Given the description of an element on the screen output the (x, y) to click on. 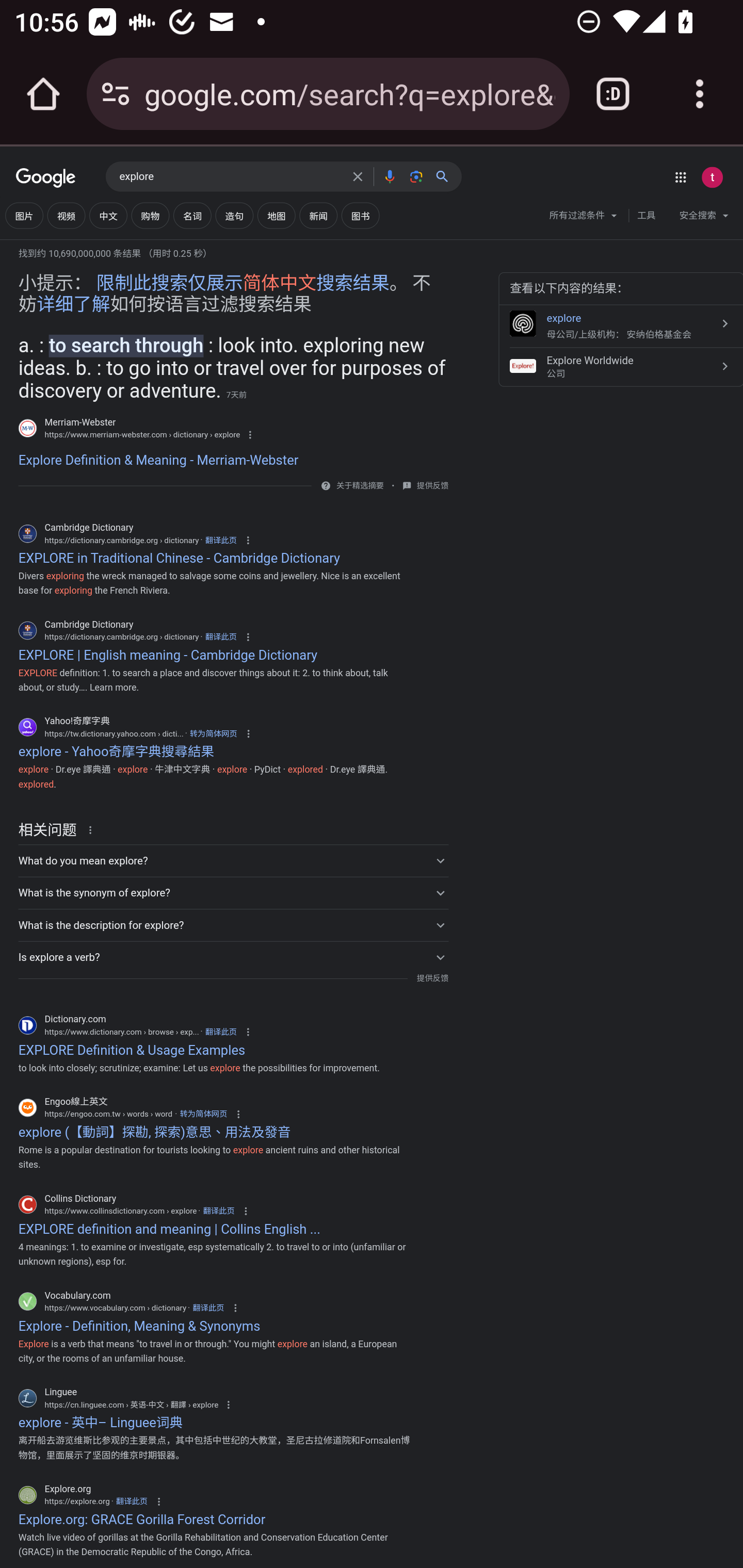
Open the home page (43, 93)
Connection is secure (115, 93)
Switch or close tabs (612, 93)
Customize and control Google Chrome (699, 93)
清除 (357, 176)
按语音搜索 (389, 176)
按图搜索 (415, 176)
搜索 (446, 176)
Google 应用 (680, 176)
Google 账号： test appium (testappium002@gmail.com) (712, 176)
Google (45, 178)
explore (229, 177)
图片 (24, 215)
视频 (65, 215)
添加“中文” 中文 (107, 215)
购物 (149, 215)
添加“名词” 名词 (191, 215)
添加“造句” 造句 (234, 215)
地图 (276, 215)
新闻 (318, 215)
图书 (359, 215)
所有过滤条件 (583, 217)
工具 (646, 215)
安全搜索 (703, 217)
限制此搜索仅展示简体中文搜索结果 限制此搜索仅展示 简体中文 搜索结果 (242, 283)
详细了解 (73, 304)
关于精选摘要 (359, 485)
提供反馈 (432, 484)
翻译此页 (220, 539)
翻译此页 (220, 636)
转为简体网页 (212, 733)
关于这条结果的详细信息 (93, 828)
What do you mean explore? (232, 859)
What is the synonym of explore? (232, 892)
What is the description for explore? (232, 924)
Is explore a verb? (232, 956)
提供反馈 (432, 978)
翻译此页 (220, 1031)
转为简体网页 (203, 1114)
翻译此页 (218, 1210)
翻译此页 (207, 1307)
翻译此页 (131, 1501)
